Given the description of an element on the screen output the (x, y) to click on. 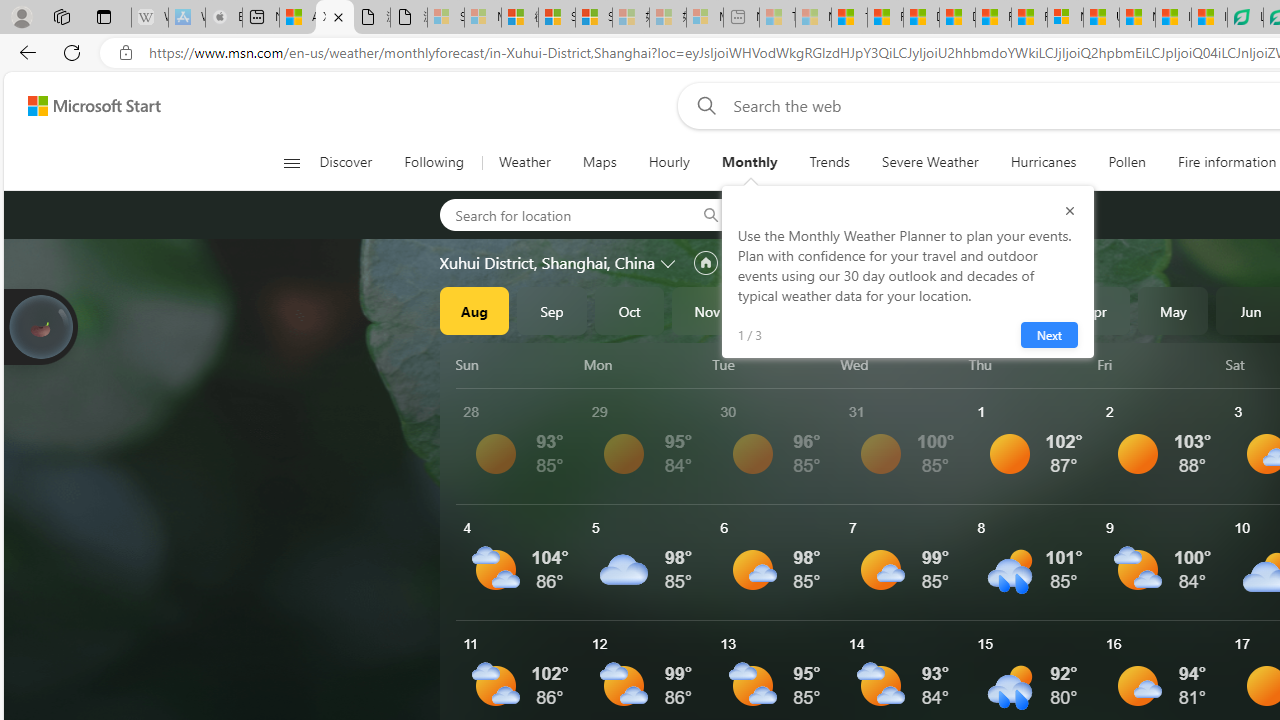
Dec (785, 310)
Buy iPad - Apple - Sleeping (223, 17)
Top Stories - MSN - Sleeping (777, 17)
Thu (1028, 363)
Apr (1095, 310)
Oct (629, 310)
Mon (644, 363)
Severe Weather (930, 162)
Feb (939, 310)
